Given the description of an element on the screen output the (x, y) to click on. 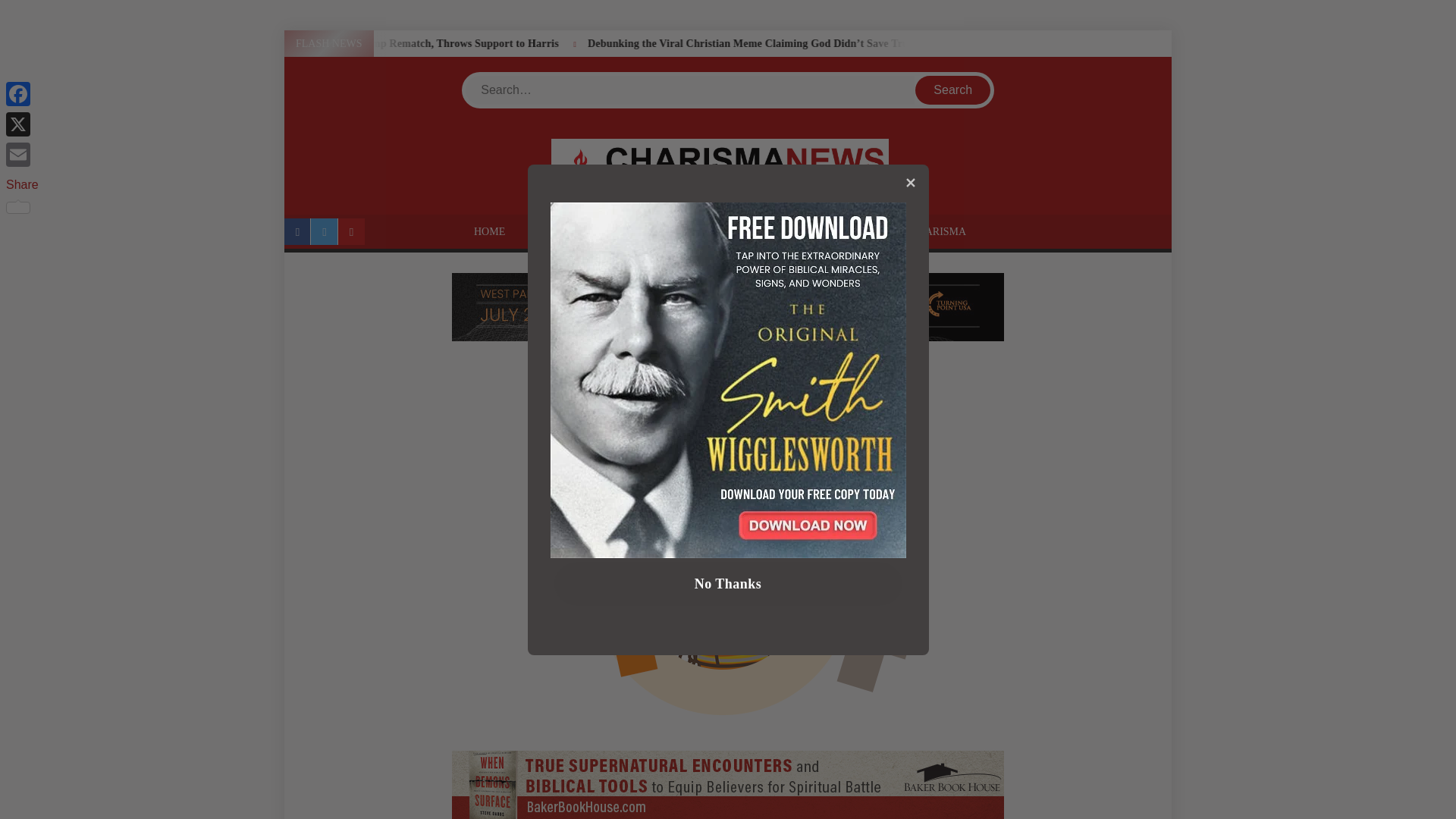
Search (926, 803)
Search (953, 90)
Search (953, 90)
Search (926, 803)
